Given the description of an element on the screen output the (x, y) to click on. 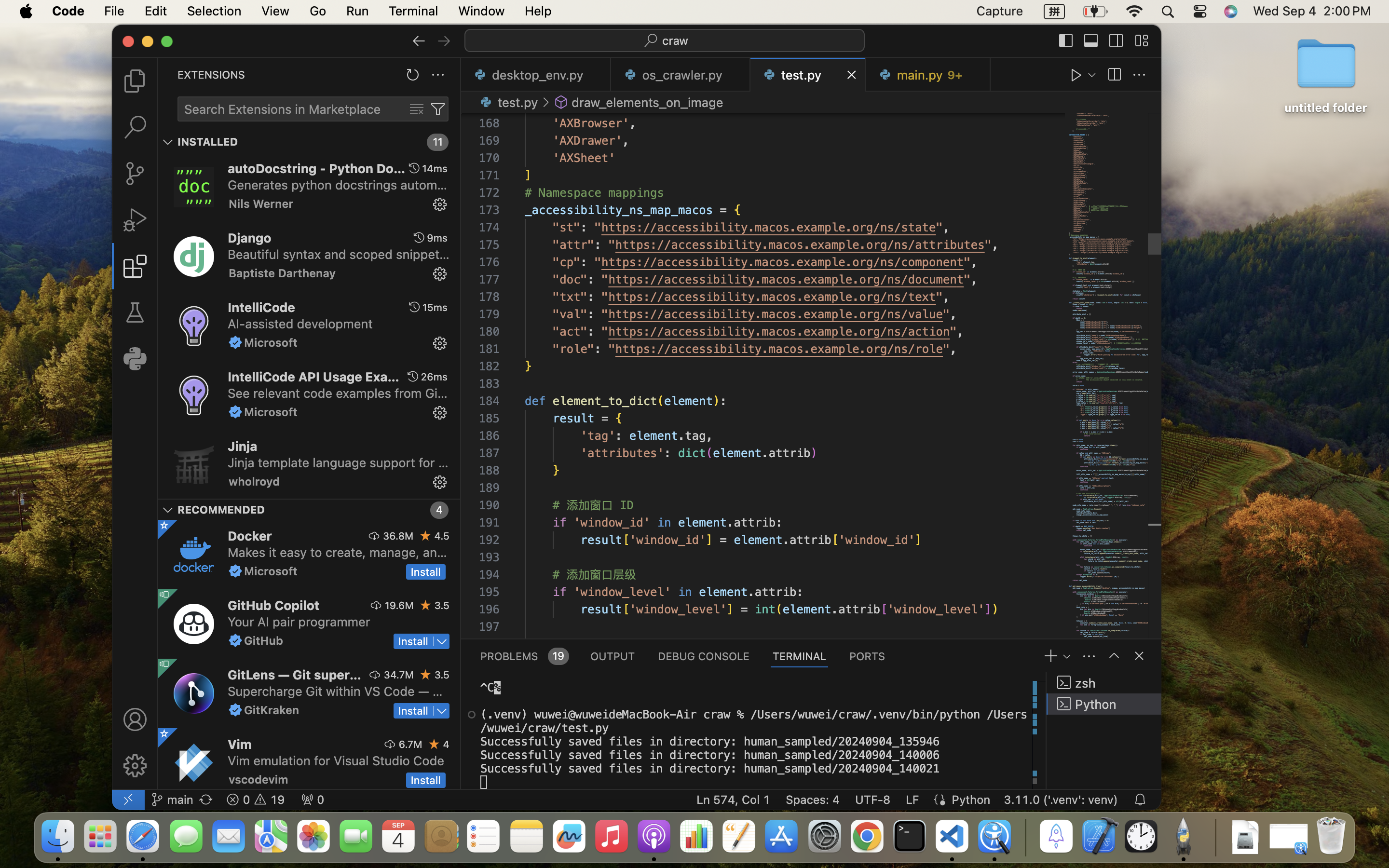
6.7M Element type: AXStaticText (410, 743)
 Element type: AXButton (416, 108)
 Element type: AXGroup (1076, 74)
14ms Element type: AXStaticText (434, 168)
4.5 Element type: AXStaticText (441, 535)
